Given the description of an element on the screen output the (x, y) to click on. 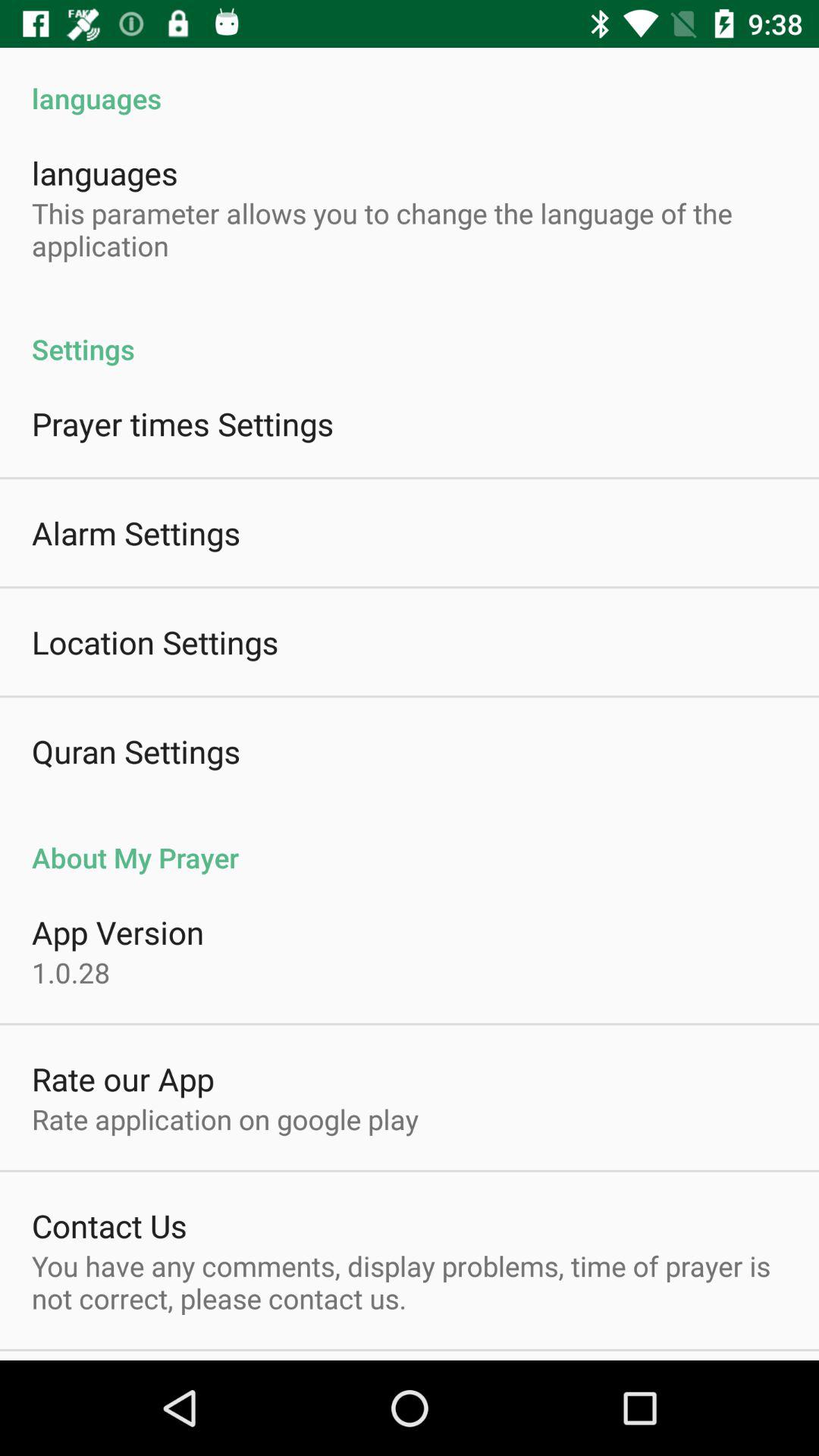
turn on the icon below quran settings icon (409, 841)
